Given the description of an element on the screen output the (x, y) to click on. 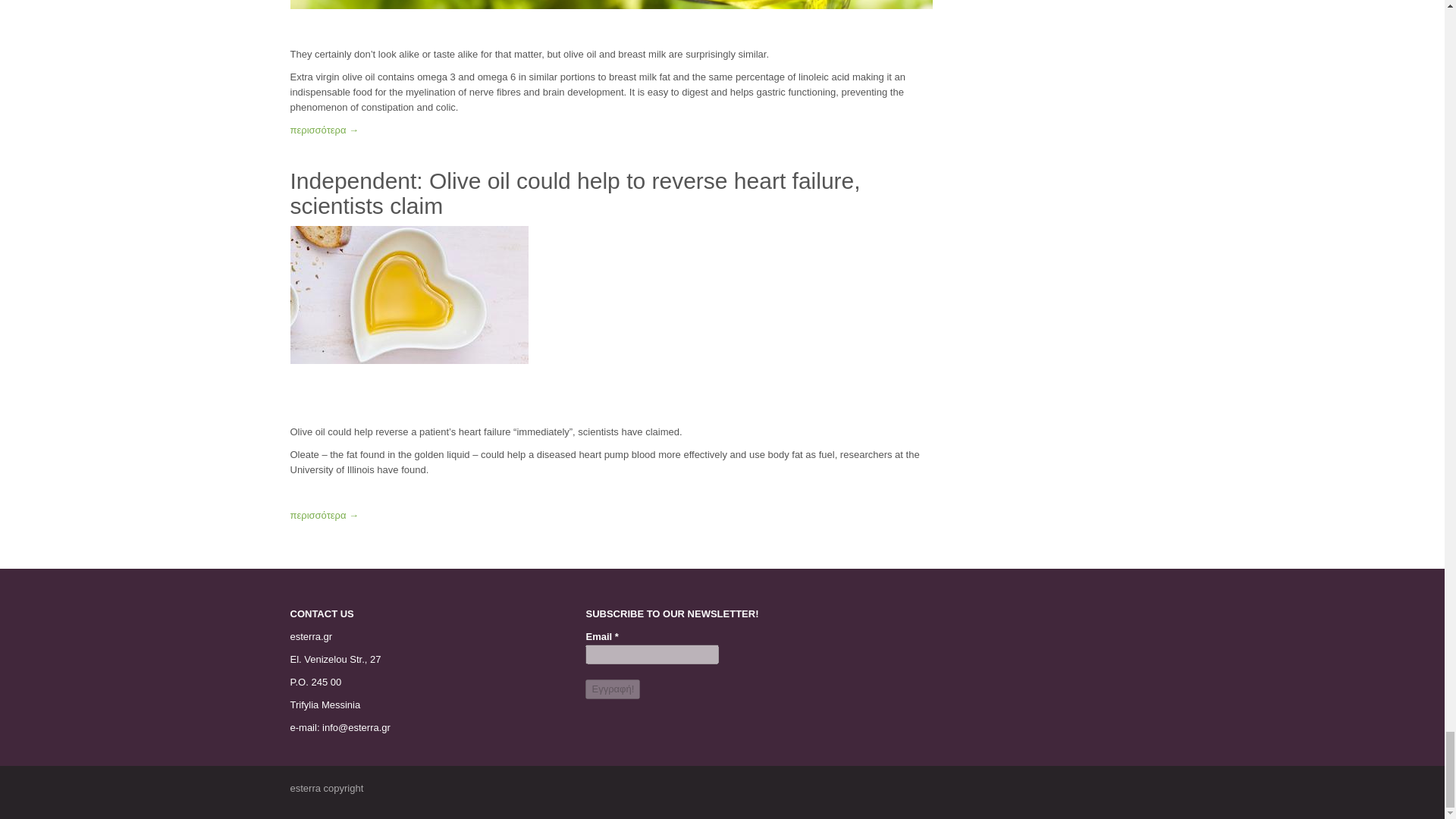
Email (652, 654)
